Given the description of an element on the screen output the (x, y) to click on. 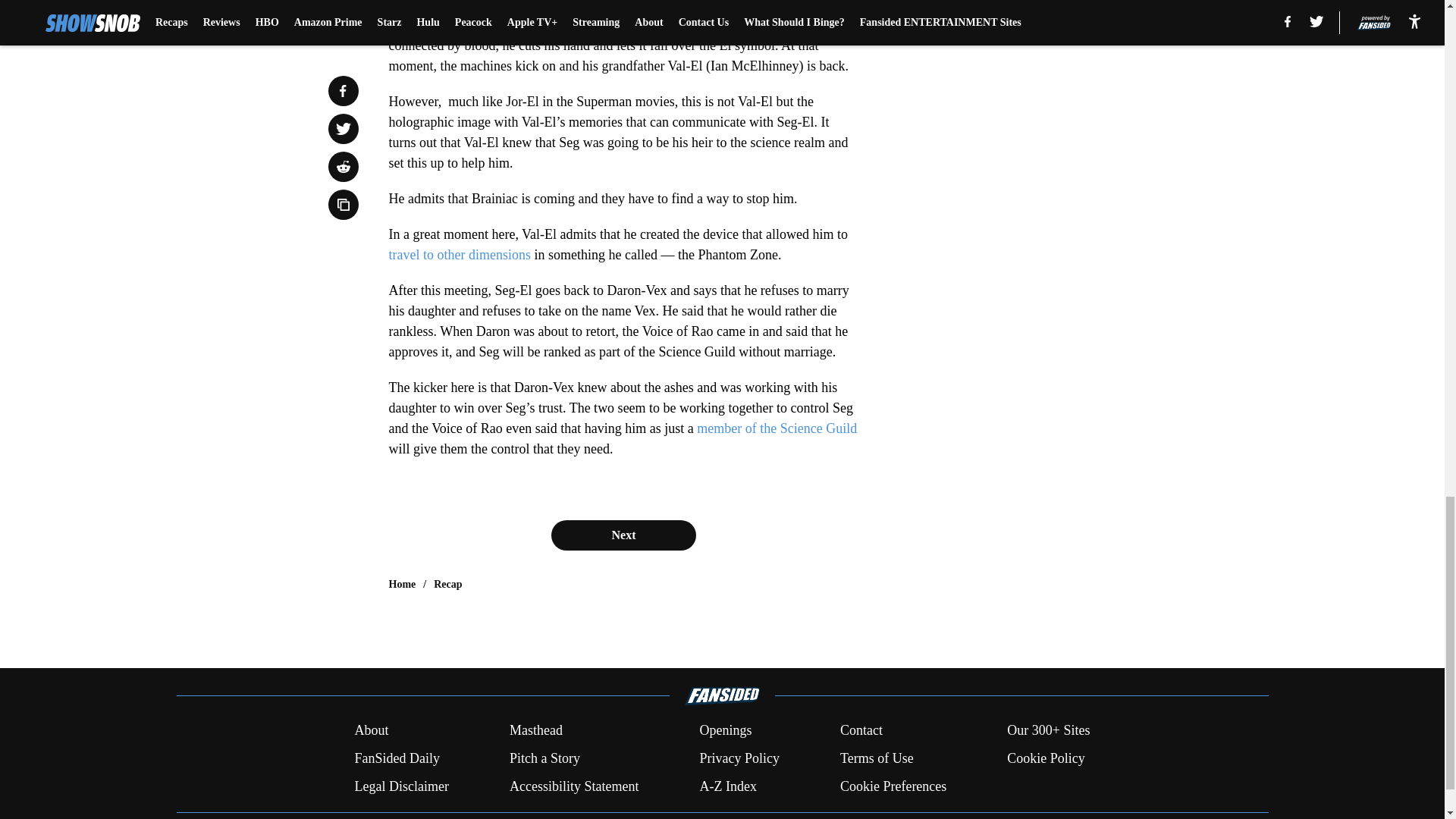
travel to other dimensions (458, 254)
Openings (724, 730)
Masthead (535, 730)
member of the Science Guild (777, 427)
About (370, 730)
Recap (447, 584)
FanSided Daily (396, 758)
Next (622, 535)
Home (401, 584)
Contact (861, 730)
